Given the description of an element on the screen output the (x, y) to click on. 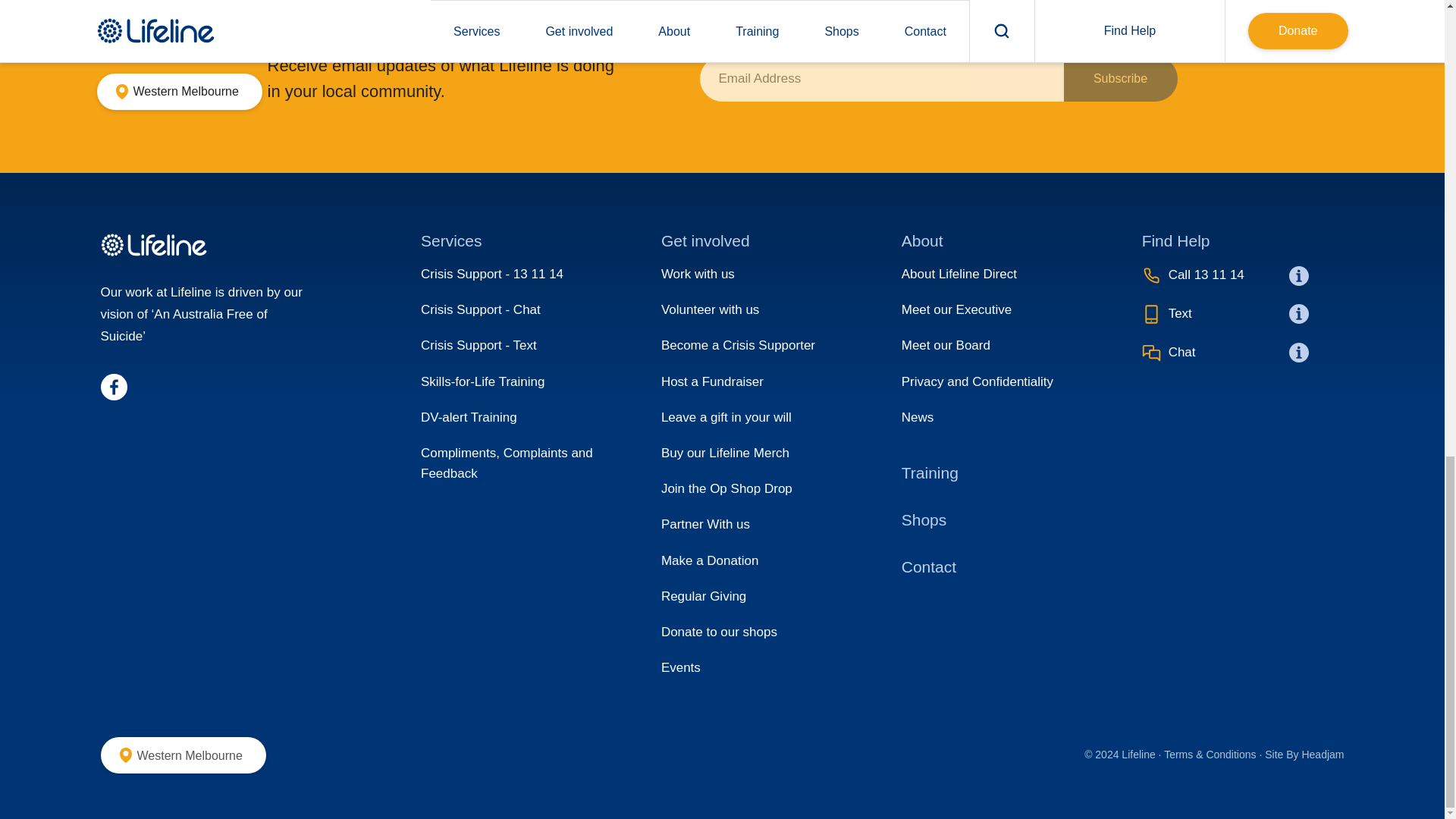
Site by Headjam (1304, 754)
